Given the description of an element on the screen output the (x, y) to click on. 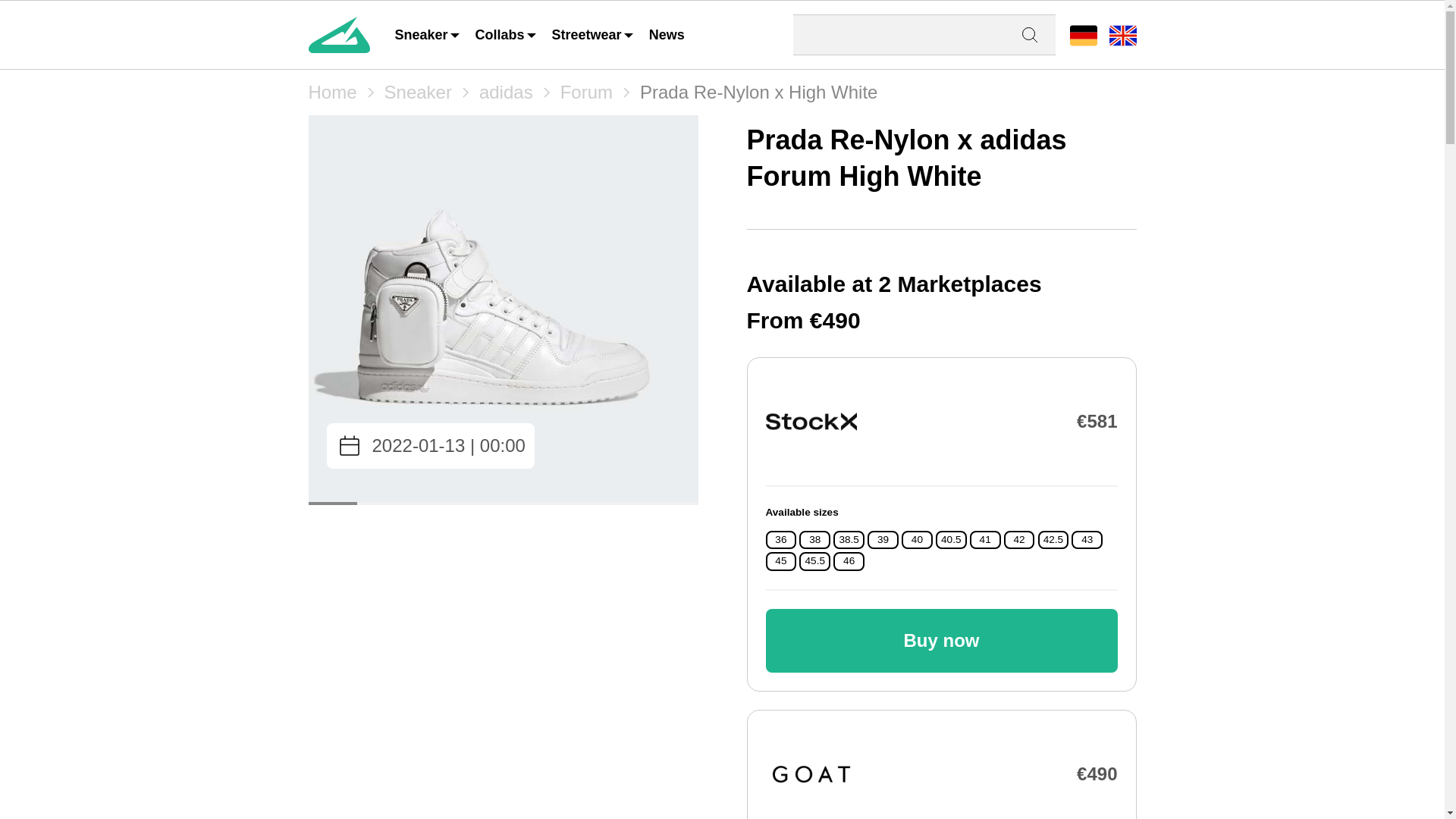
36 (780, 539)
adidas (505, 92)
40 (917, 539)
43 (1087, 539)
38.5 (848, 539)
40.5 (950, 539)
39 (882, 539)
Forum (586, 92)
46 (848, 560)
45 (780, 560)
45.5 (815, 560)
41 (985, 539)
42 (1019, 539)
38 (815, 539)
Sneaker (427, 34)
